Given the description of an element on the screen output the (x, y) to click on. 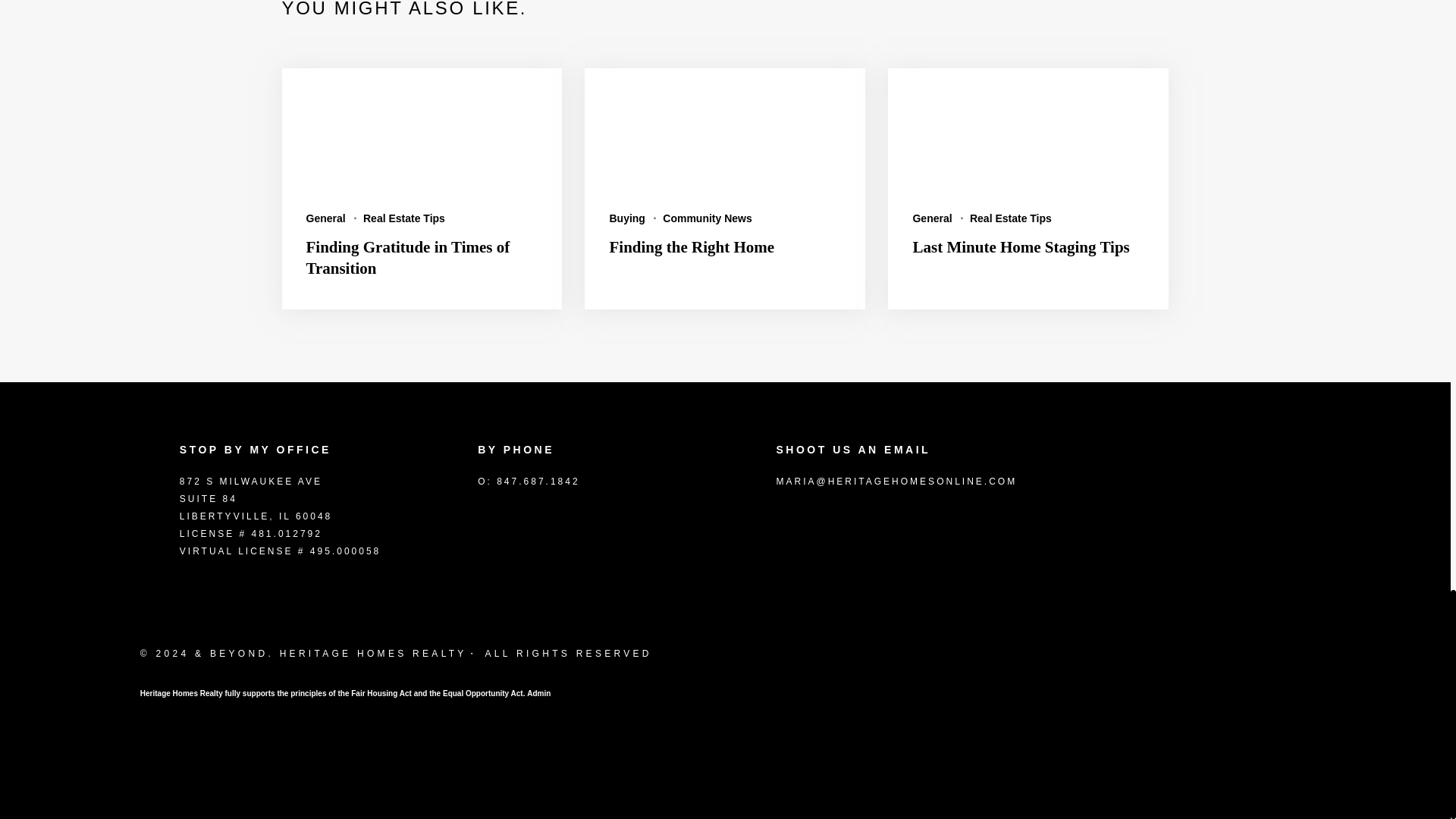
General (325, 218)
Real Estate Tips (403, 218)
